Given the description of an element on the screen output the (x, y) to click on. 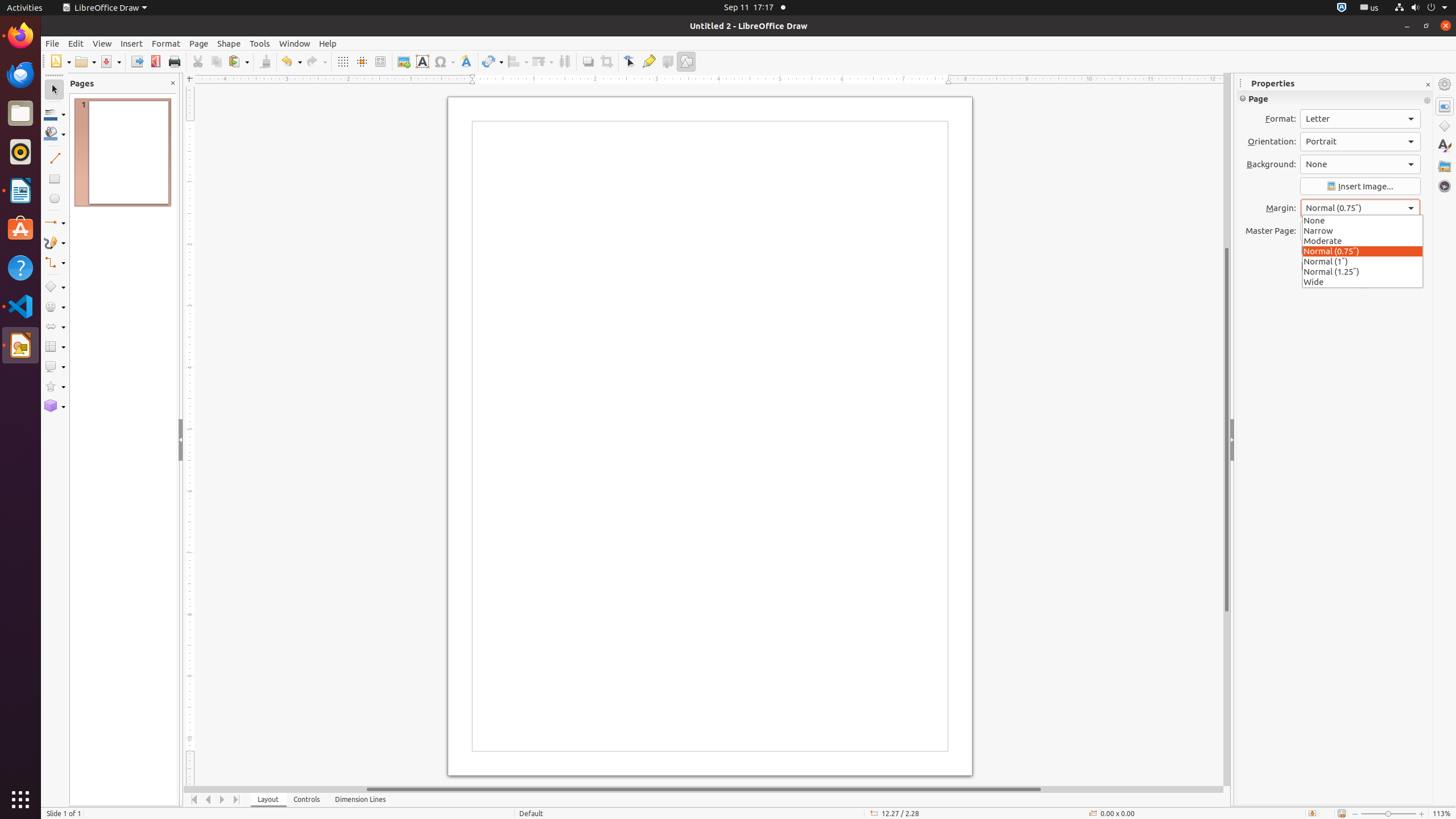
Controls Element type: page-tab (307, 799)
Crop Element type: push-button (606, 61)
Insert Image Element type: push-button (1360, 186)
Wide Element type: list-item (1362, 281)
Arrow Shapes Element type: push-button (54, 326)
